Given the description of an element on the screen output the (x, y) to click on. 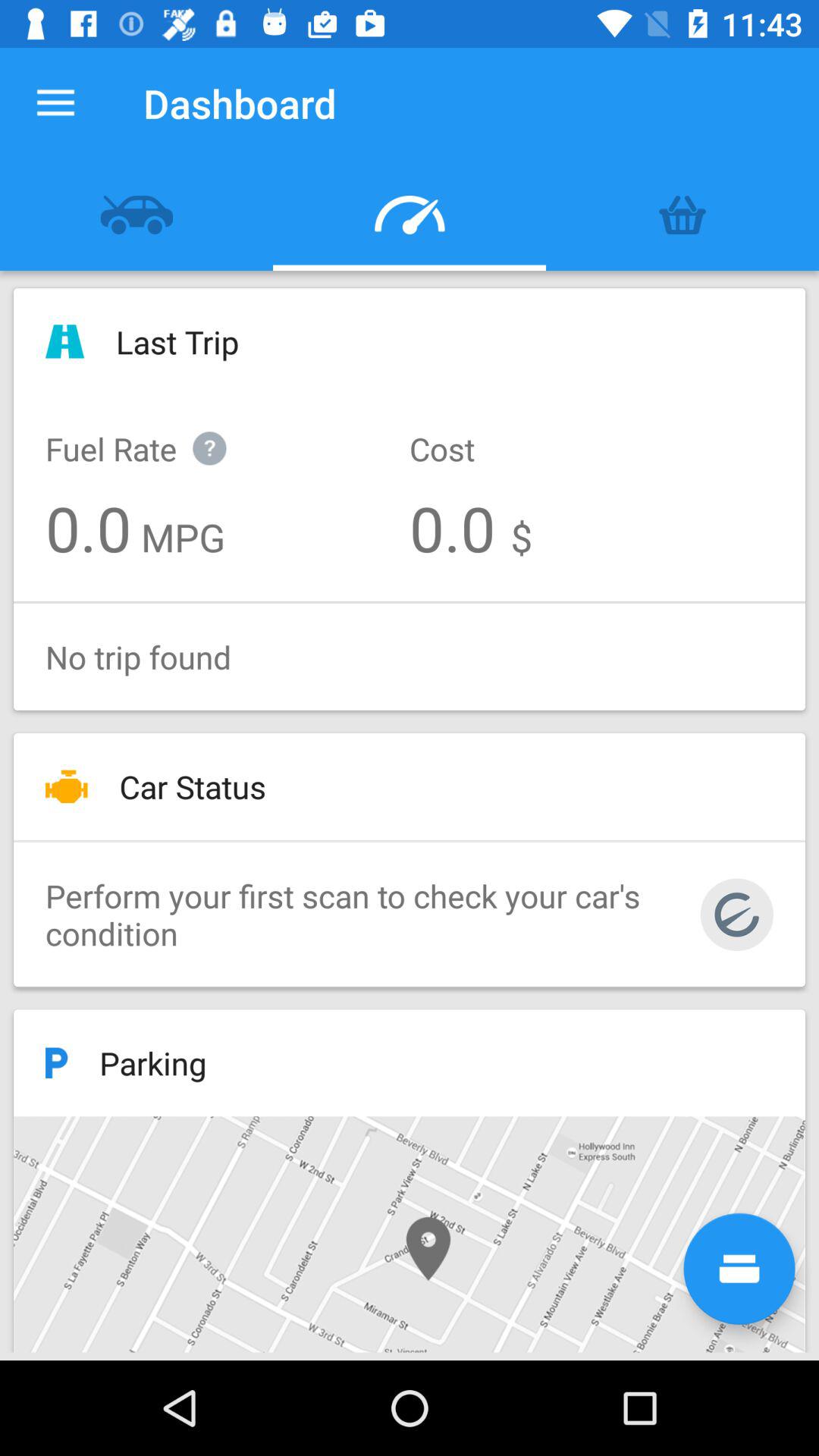
choose icon below the last trip icon (151, 432)
